Given the description of an element on the screen output the (x, y) to click on. 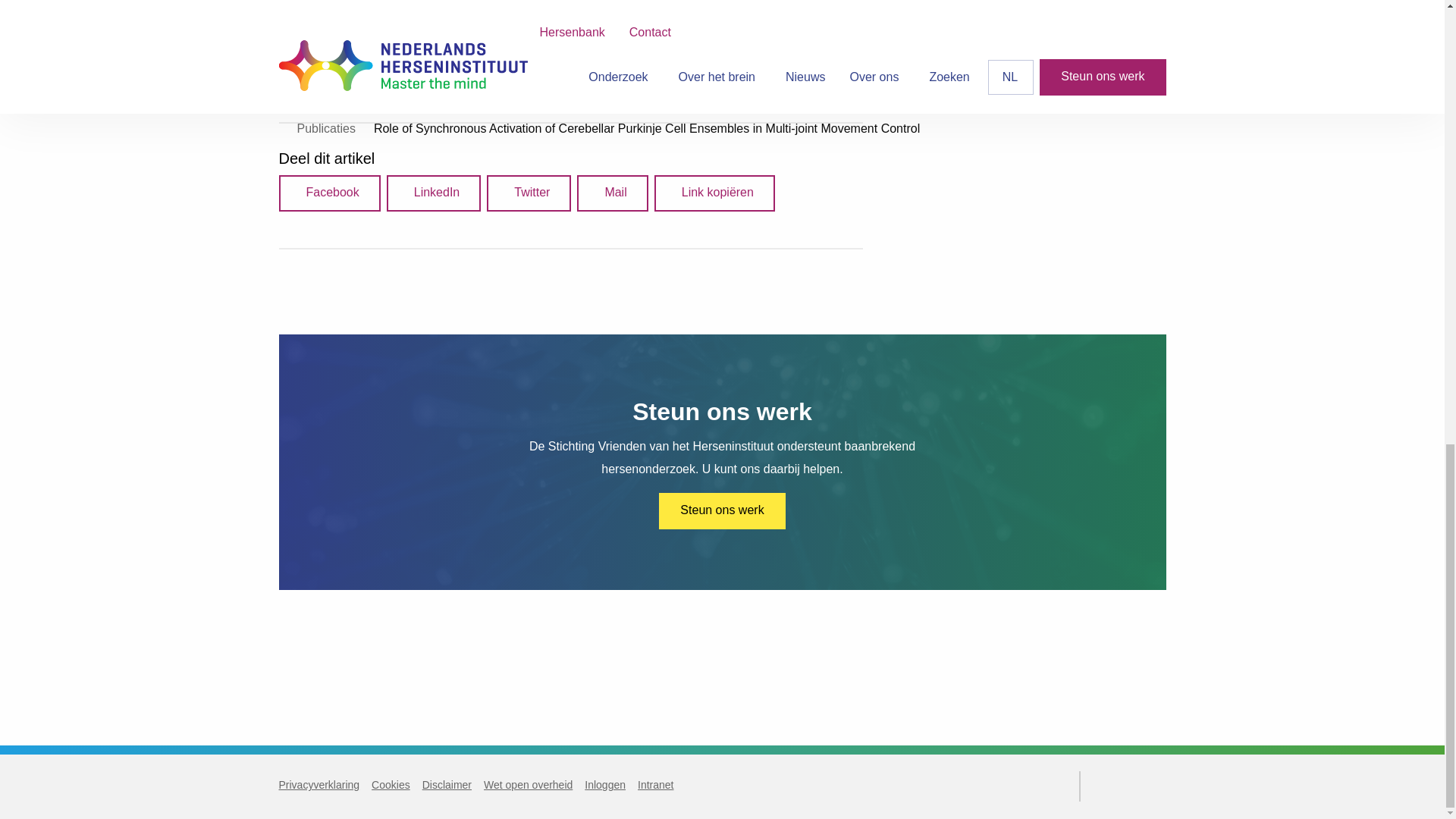
Share link (713, 193)
Share via mail (611, 193)
Share on LinkedIn (434, 193)
Share on Facebook (329, 193)
Tweet (528, 193)
